Given the description of an element on the screen output the (x, y) to click on. 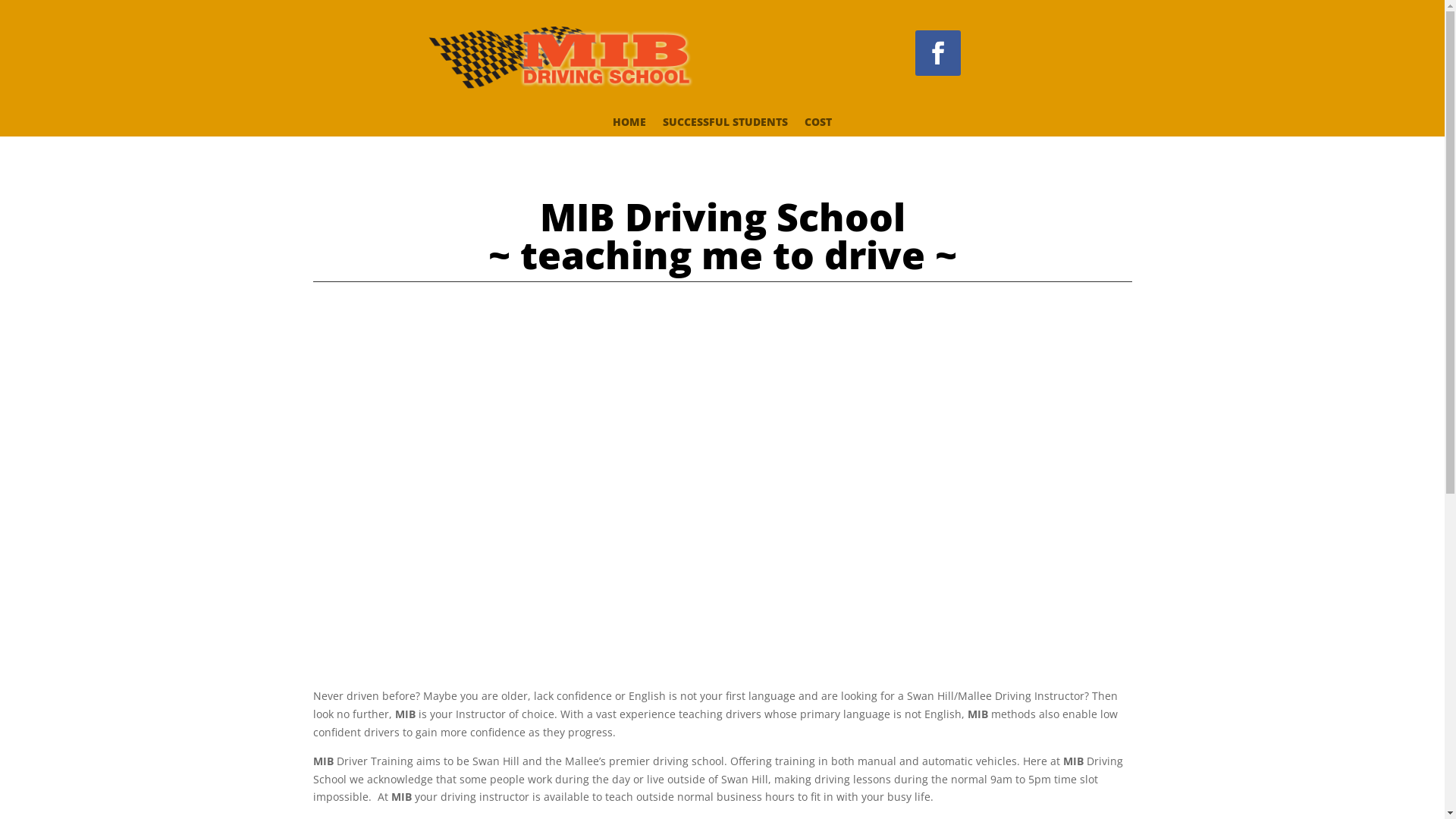
COST Element type: text (817, 124)
Follow on Facebook Element type: hover (937, 52)
SUCCESSFUL STUDENTS Element type: text (724, 124)
HOME Element type: text (629, 124)
Header Element type: hover (562, 58)
